Given the description of an element on the screen output the (x, y) to click on. 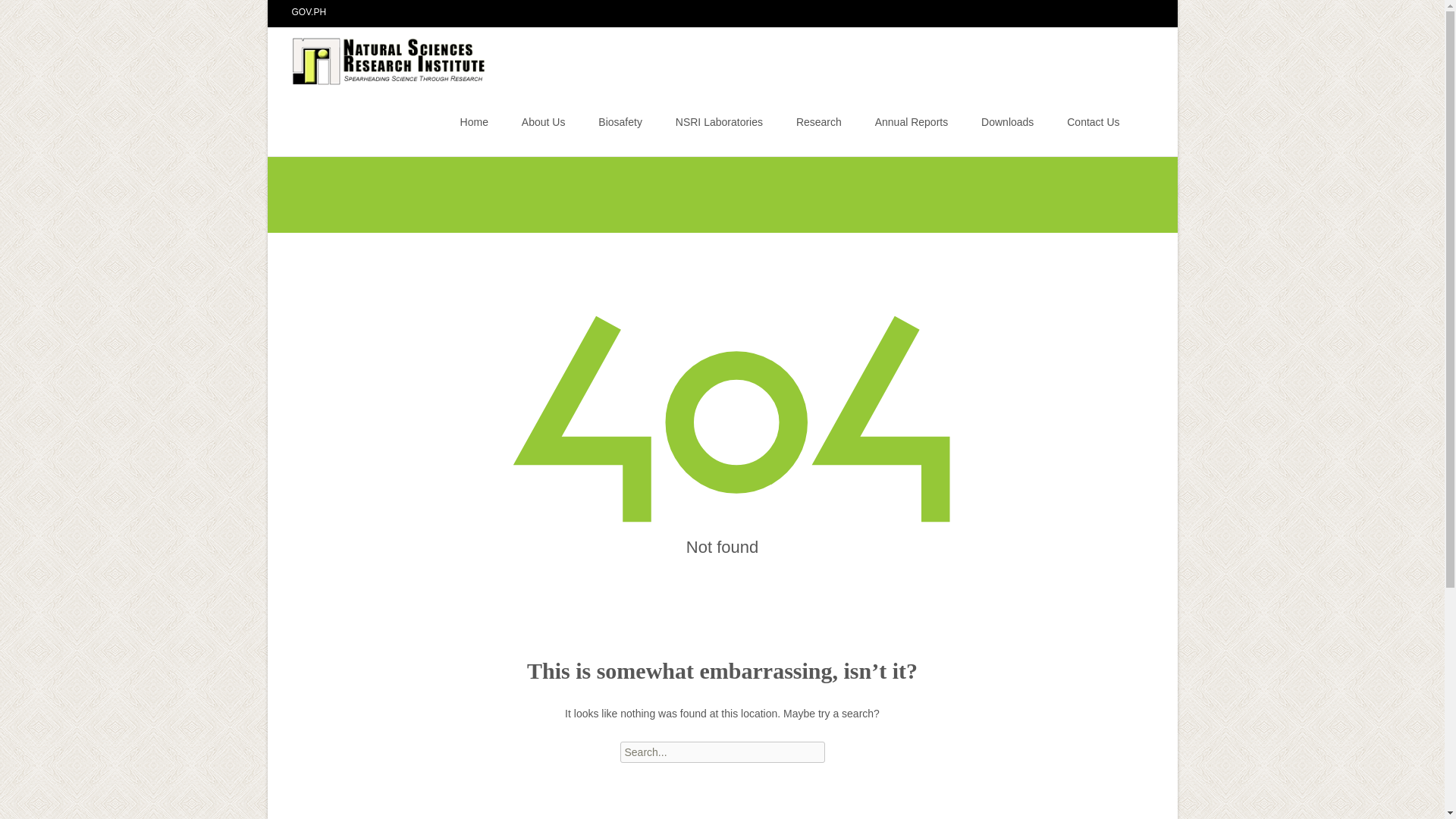
GOV.PH (308, 11)
Annual Reports (912, 121)
Search for: (722, 752)
Search for: (1139, 123)
NSRI Laboratories (718, 121)
Search (18, 14)
Search (34, 14)
Natural Sciences Research Institute (378, 57)
